Given the description of an element on the screen output the (x, y) to click on. 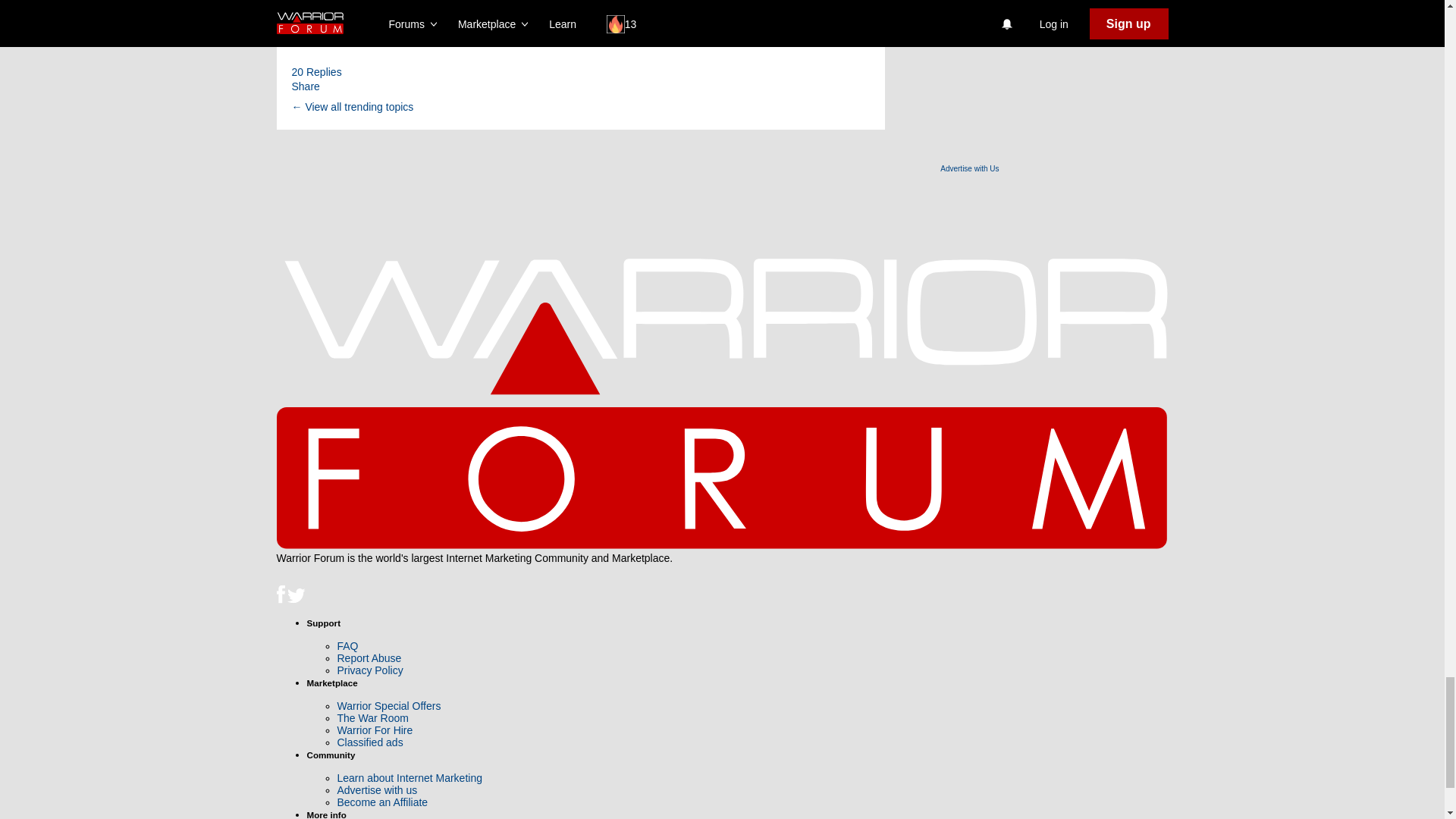
Warrior Forum on Twitter (295, 599)
Warrior Forum on Facebook (281, 599)
Bird (295, 595)
